Given the description of an element on the screen output the (x, y) to click on. 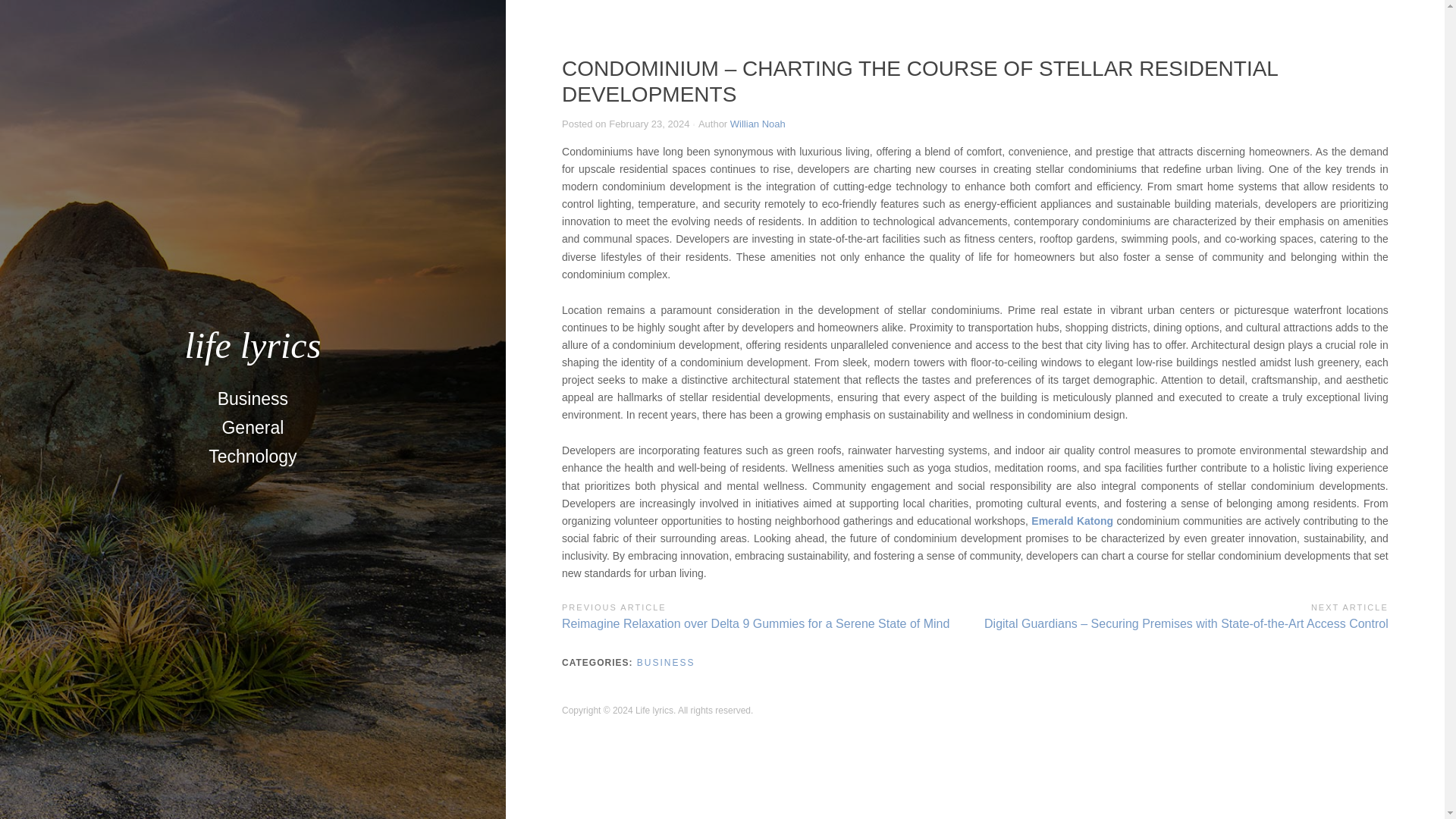
Willian Noah (758, 123)
General (252, 427)
BUSINESS (666, 662)
life lyrics (252, 345)
Technology (252, 456)
Emerald Katong (1071, 521)
Business (252, 398)
